Given the description of an element on the screen output the (x, y) to click on. 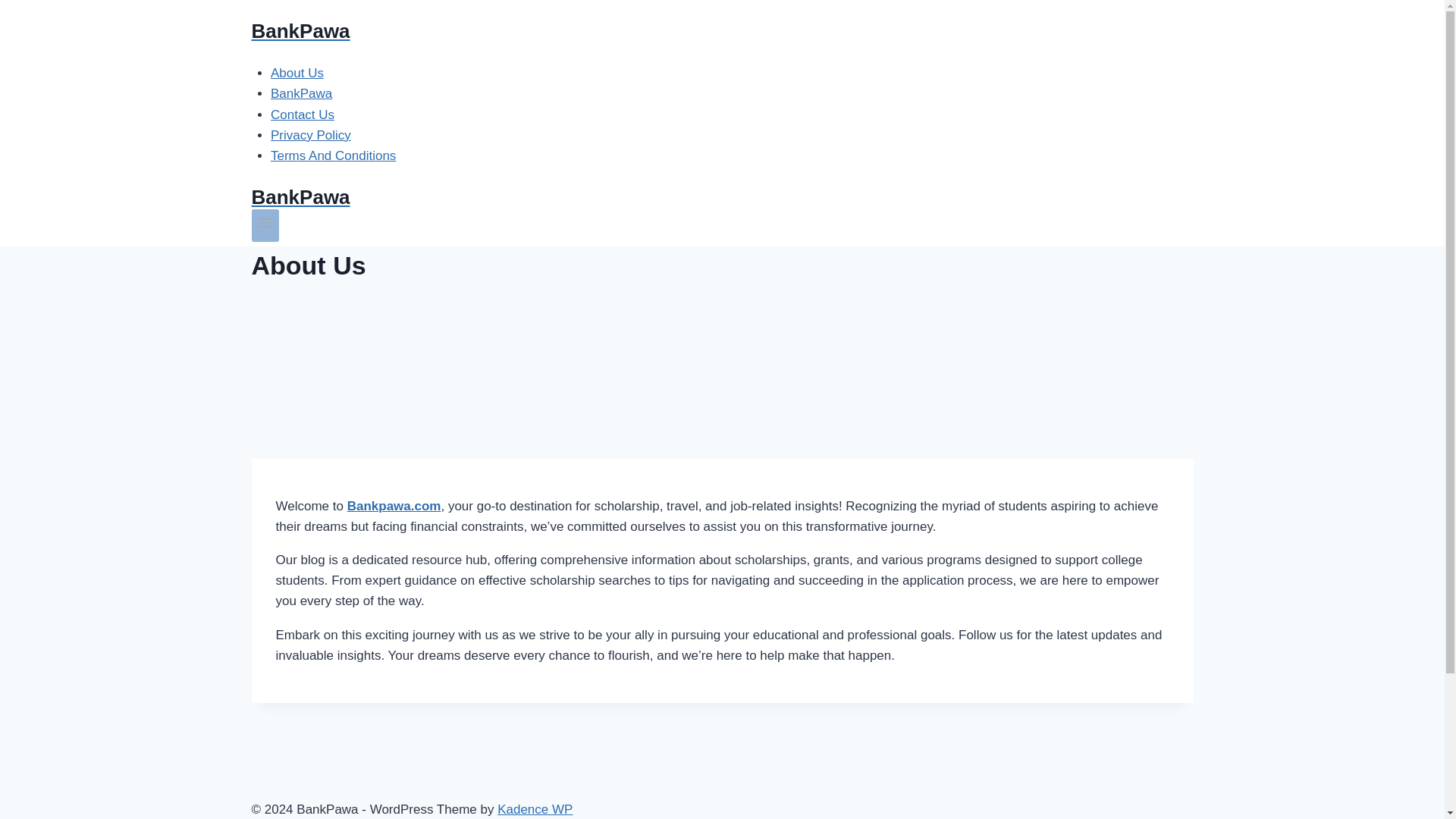
Contact Us (302, 114)
BankPawa (300, 93)
Privacy Policy (310, 134)
About Us (296, 73)
Bankpawa.com (394, 505)
Kadence WP (534, 809)
BankPawa (722, 197)
BankPawa (722, 31)
Terms And Conditions (333, 155)
